Given the description of an element on the screen output the (x, y) to click on. 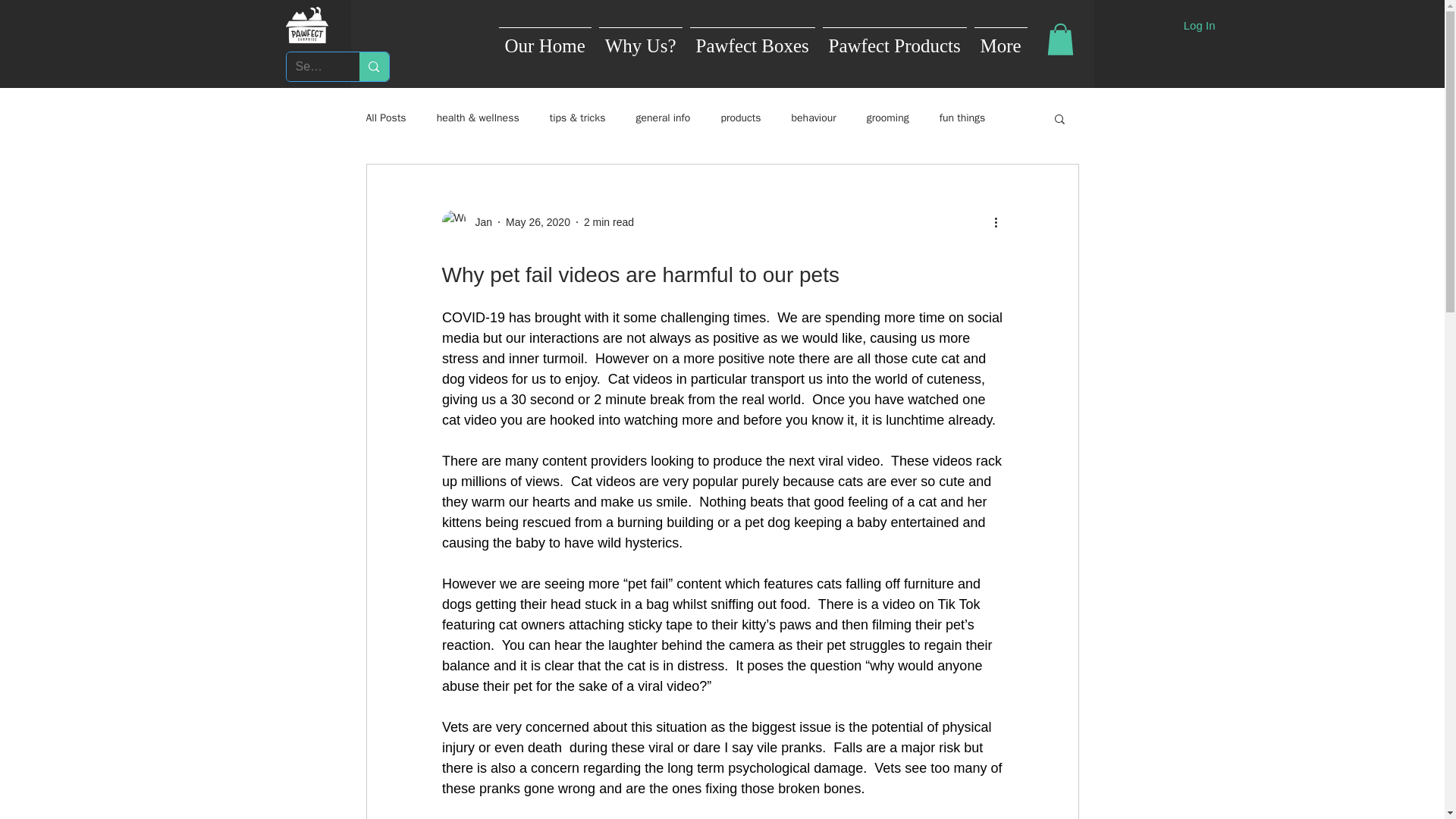
Why Us? (639, 39)
Pawfect Boxes (751, 39)
Our Home (544, 39)
All Posts (385, 118)
Jan (478, 221)
behaviour (813, 118)
general info (663, 118)
Pawfect Products (894, 39)
2 min read (608, 221)
grooming (887, 118)
products (740, 118)
fun things (962, 118)
May 26, 2020 (537, 221)
Jan (466, 221)
Log In (1199, 25)
